Given the description of an element on the screen output the (x, y) to click on. 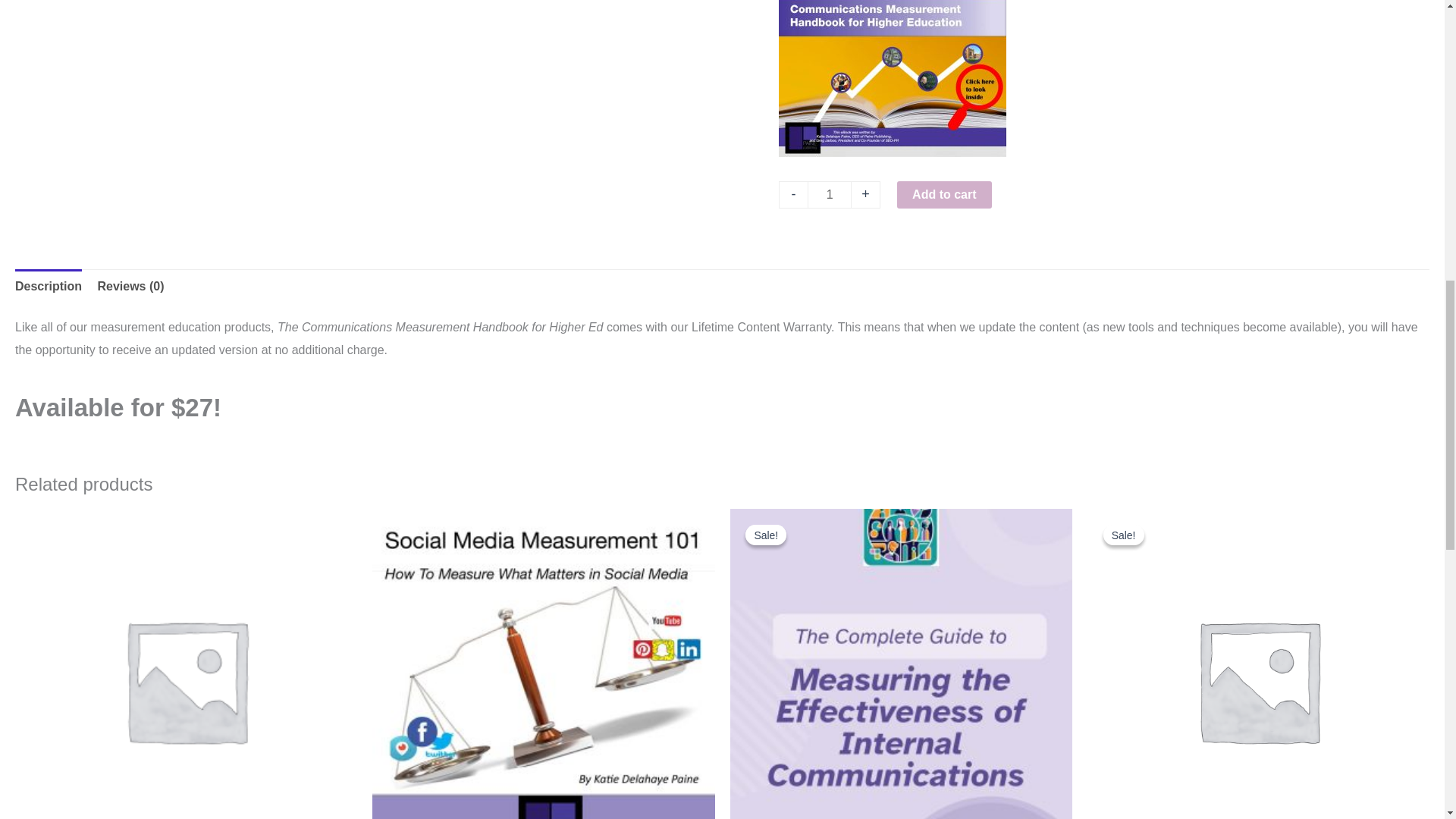
1 (829, 194)
